Given the description of an element on the screen output the (x, y) to click on. 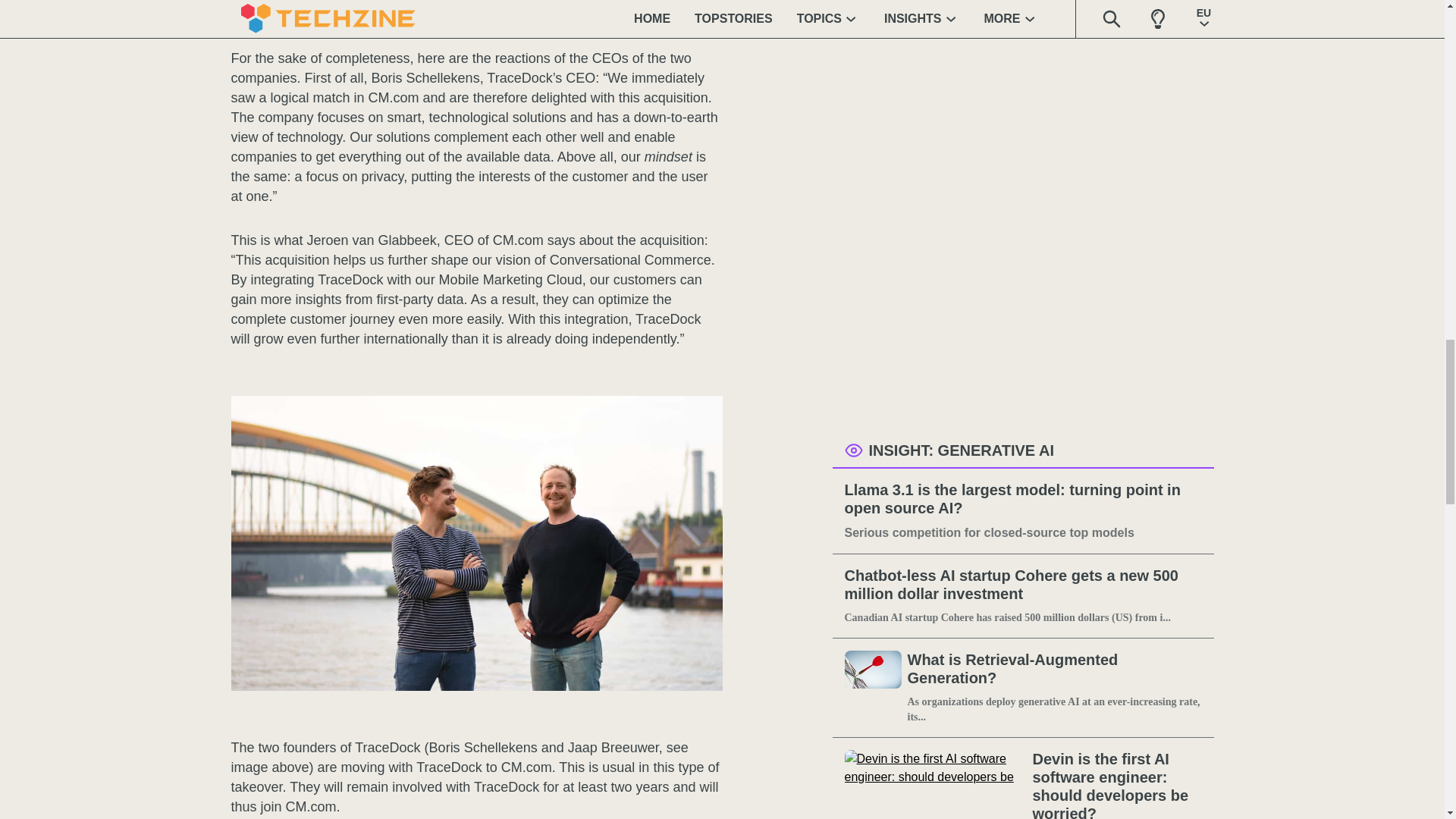
What is Retrieval-Augmented Generation? (1054, 669)
